Given the description of an element on the screen output the (x, y) to click on. 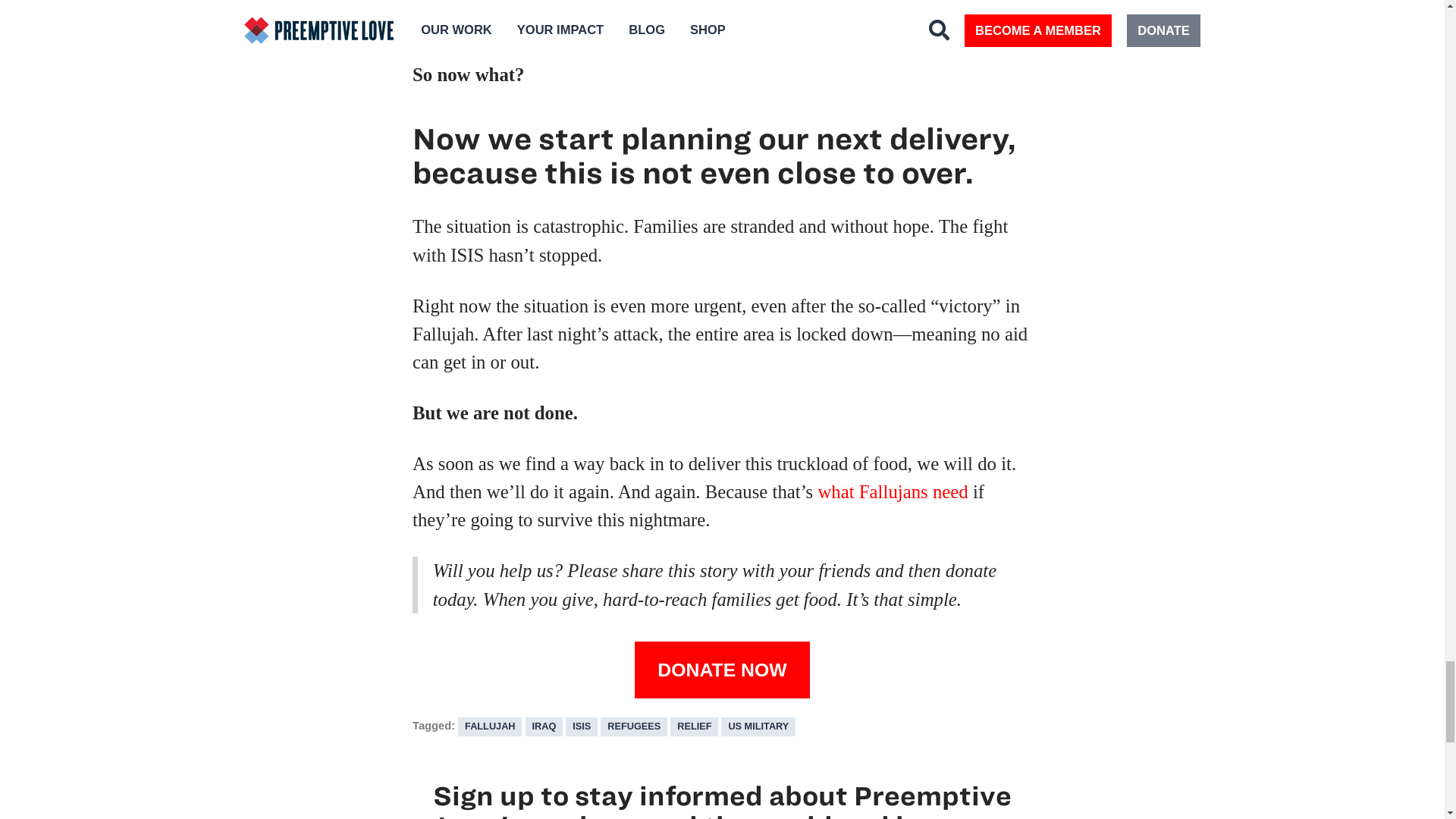
REFUGEES (632, 726)
IRAQ (544, 726)
US MILITARY (757, 726)
RELIEF (693, 726)
FALLUJAH (489, 726)
DONATE NOW (721, 669)
what Fallujans need (892, 491)
ISIS (581, 726)
